Given the description of an element on the screen output the (x, y) to click on. 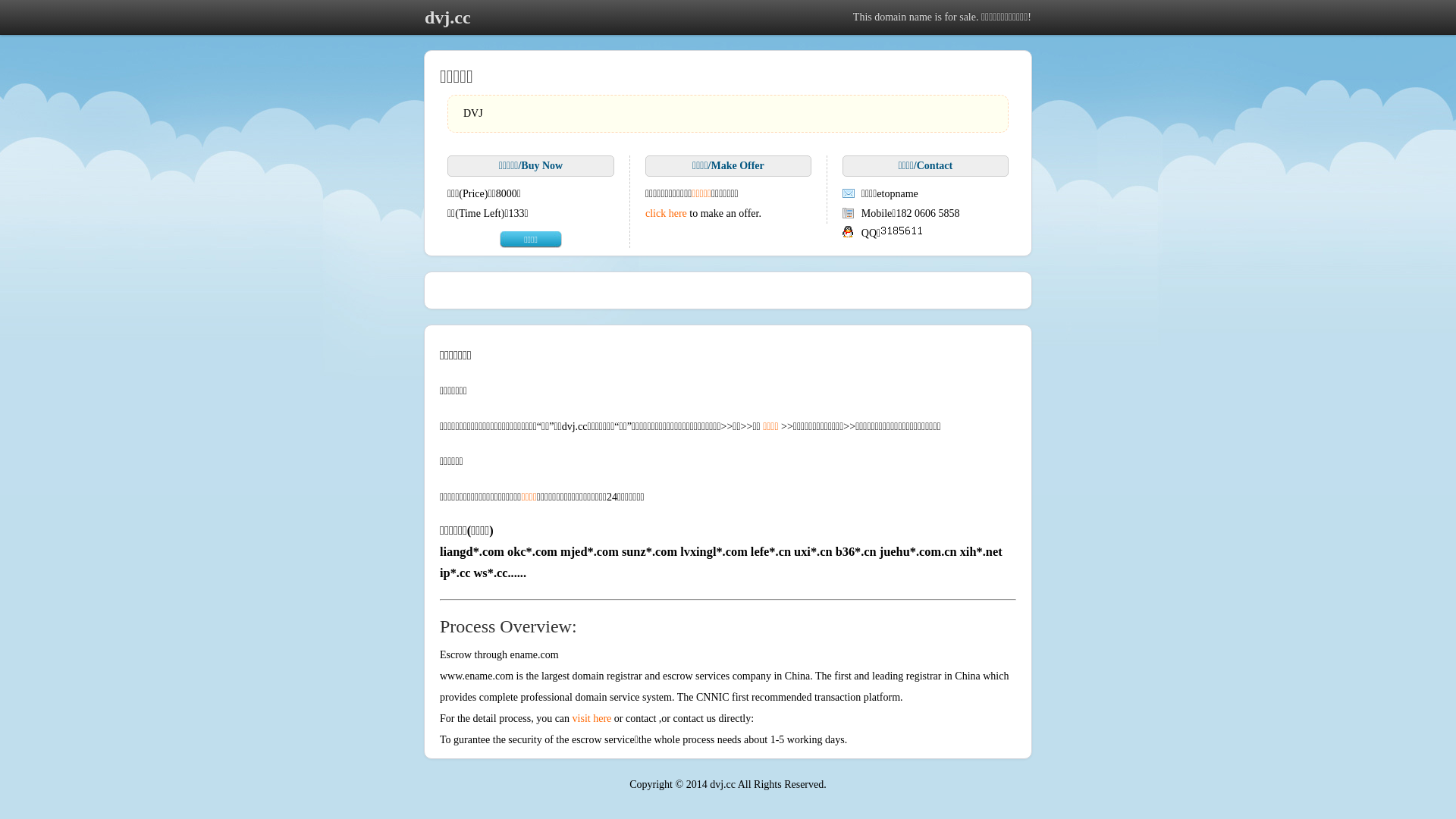
click here Element type: text (666, 213)
visit here Element type: text (591, 718)
